Given the description of an element on the screen output the (x, y) to click on. 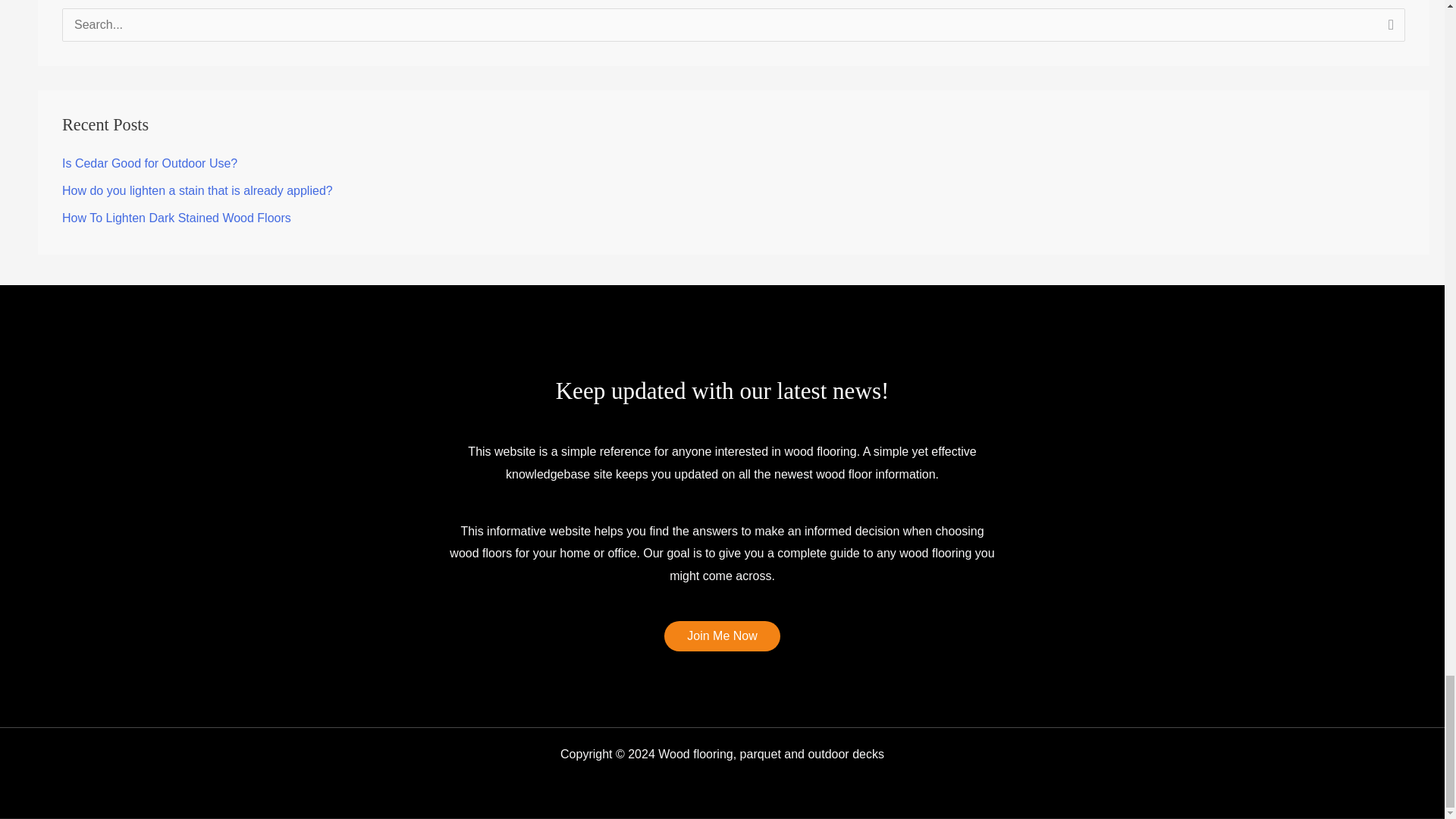
Is Cedar Good for Outdoor Use? (149, 163)
How To Lighten Dark Stained Wood Floors (176, 217)
How do you lighten a stain that is already applied? (197, 190)
Join Me Now (720, 635)
